Given the description of an element on the screen output the (x, y) to click on. 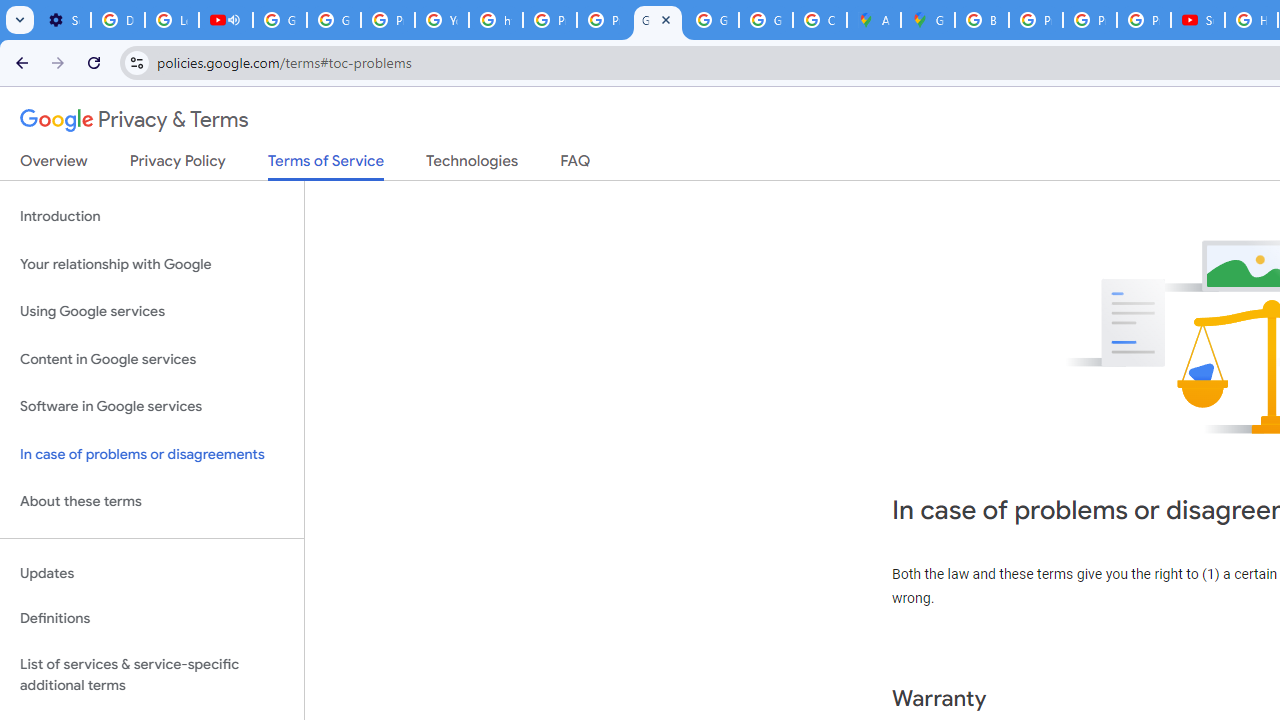
Privacy Help Center - Policies Help (387, 20)
Privacy Help Center - Policies Help (550, 20)
https://scholar.google.com/ (495, 20)
About these terms (152, 502)
YouTube (441, 20)
Your relationship with Google (152, 263)
Mute tab (233, 20)
